Given the description of an element on the screen output the (x, y) to click on. 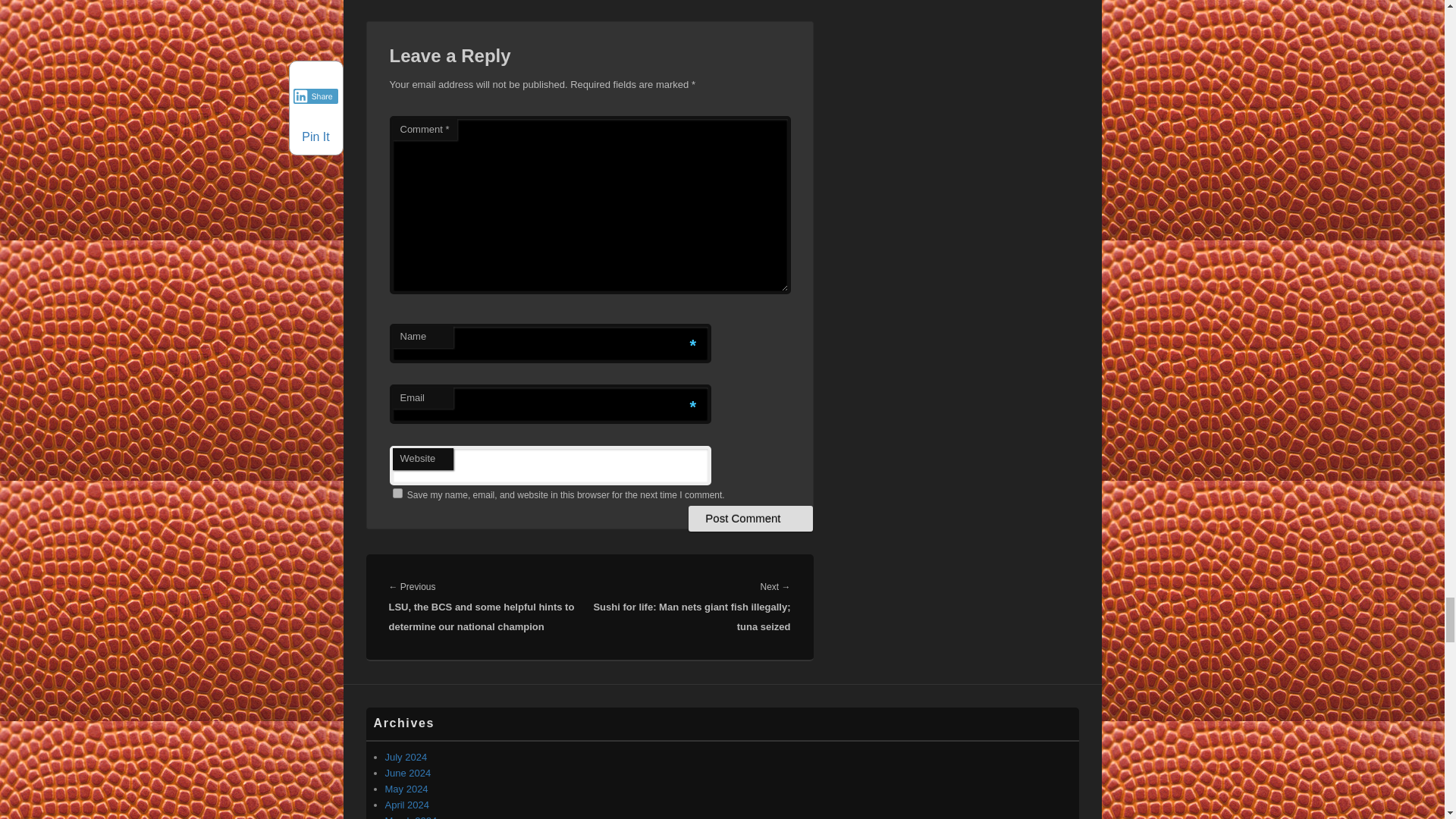
yes (398, 492)
Post Comment (750, 518)
